Given the description of an element on the screen output the (x, y) to click on. 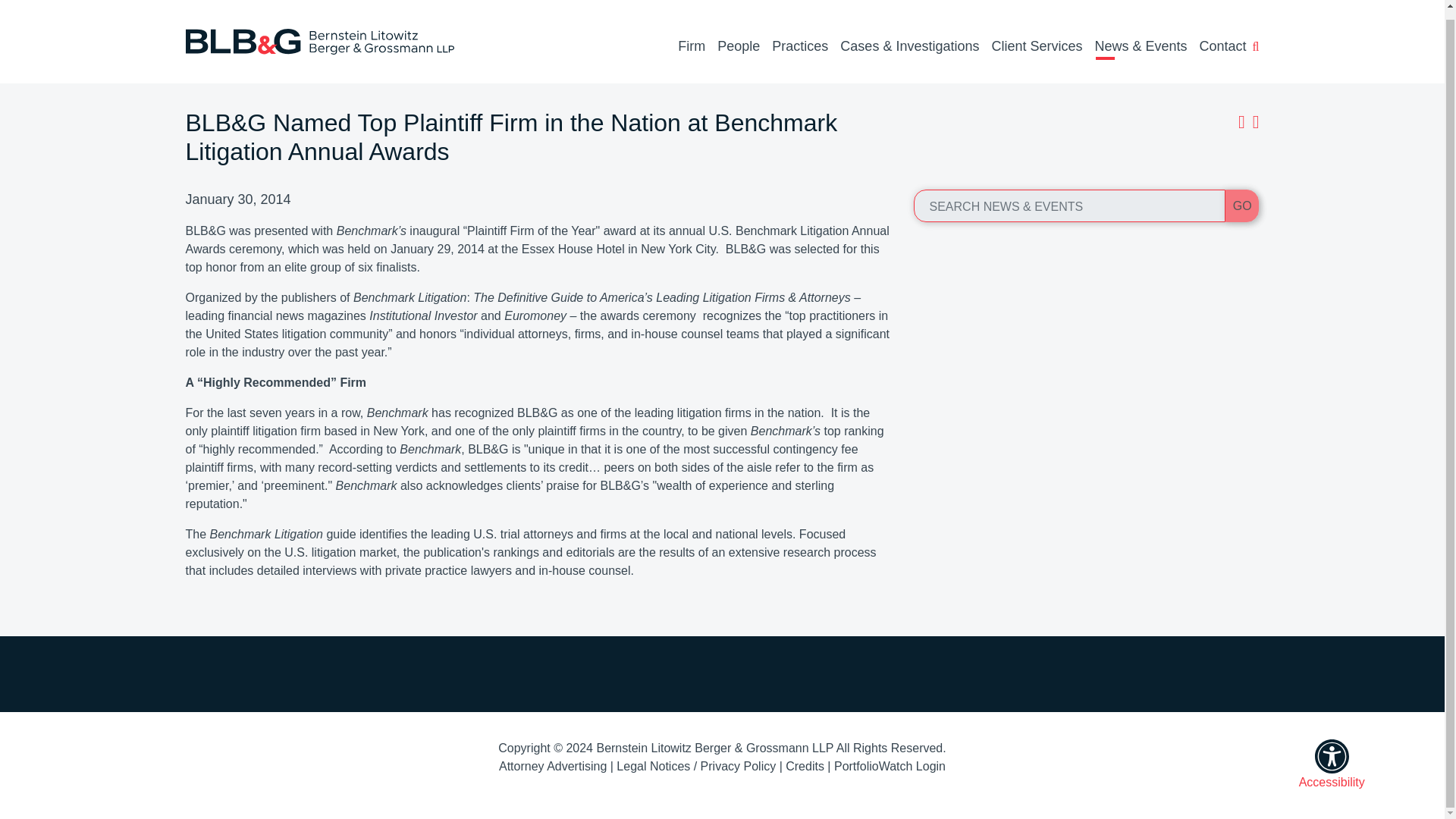
Firm (691, 39)
People (738, 39)
Client Services (1036, 39)
Practices (799, 39)
Contact (1222, 39)
